Given the description of an element on the screen output the (x, y) to click on. 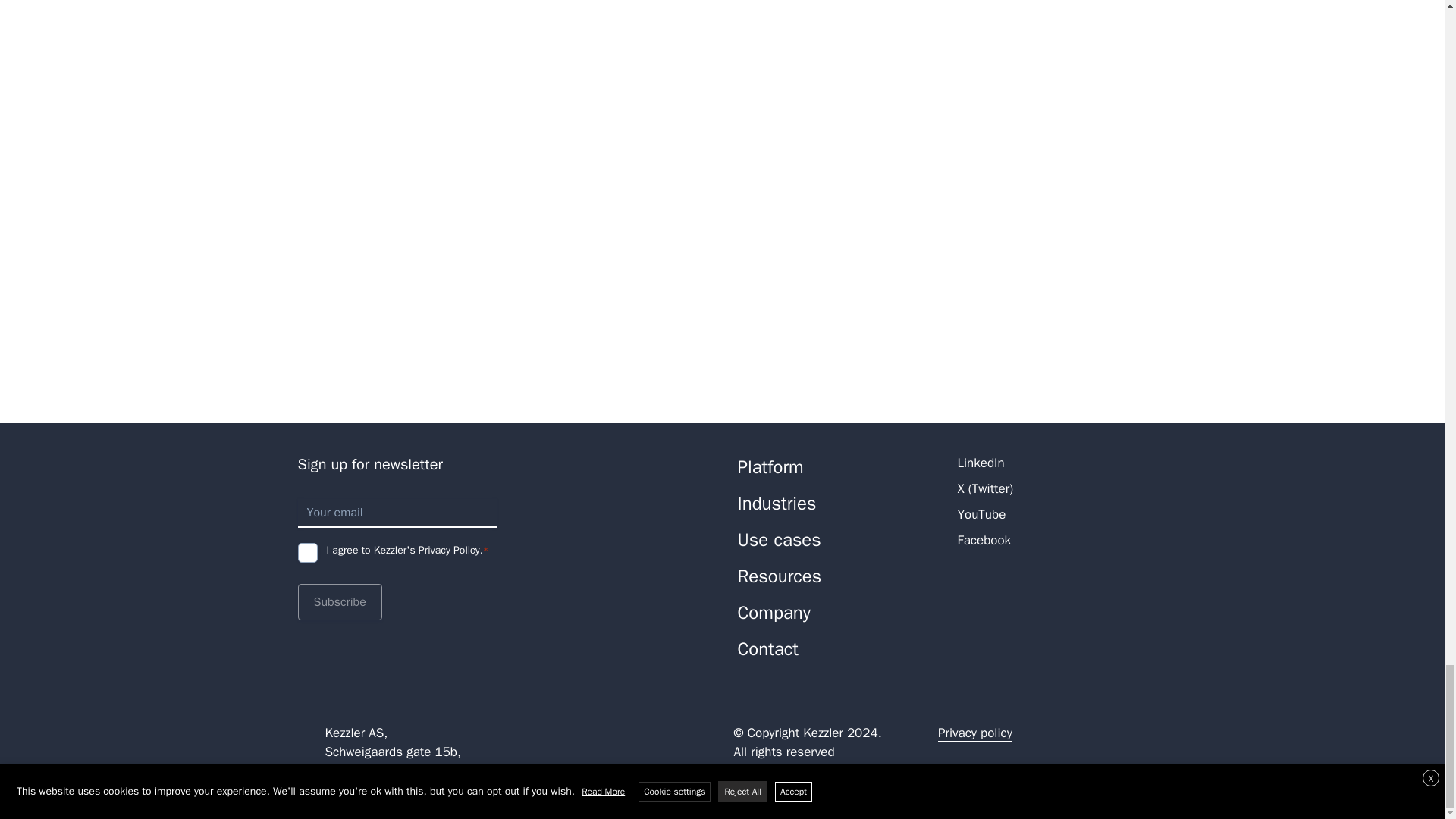
1 (307, 552)
Subscribe (339, 601)
